Given the description of an element on the screen output the (x, y) to click on. 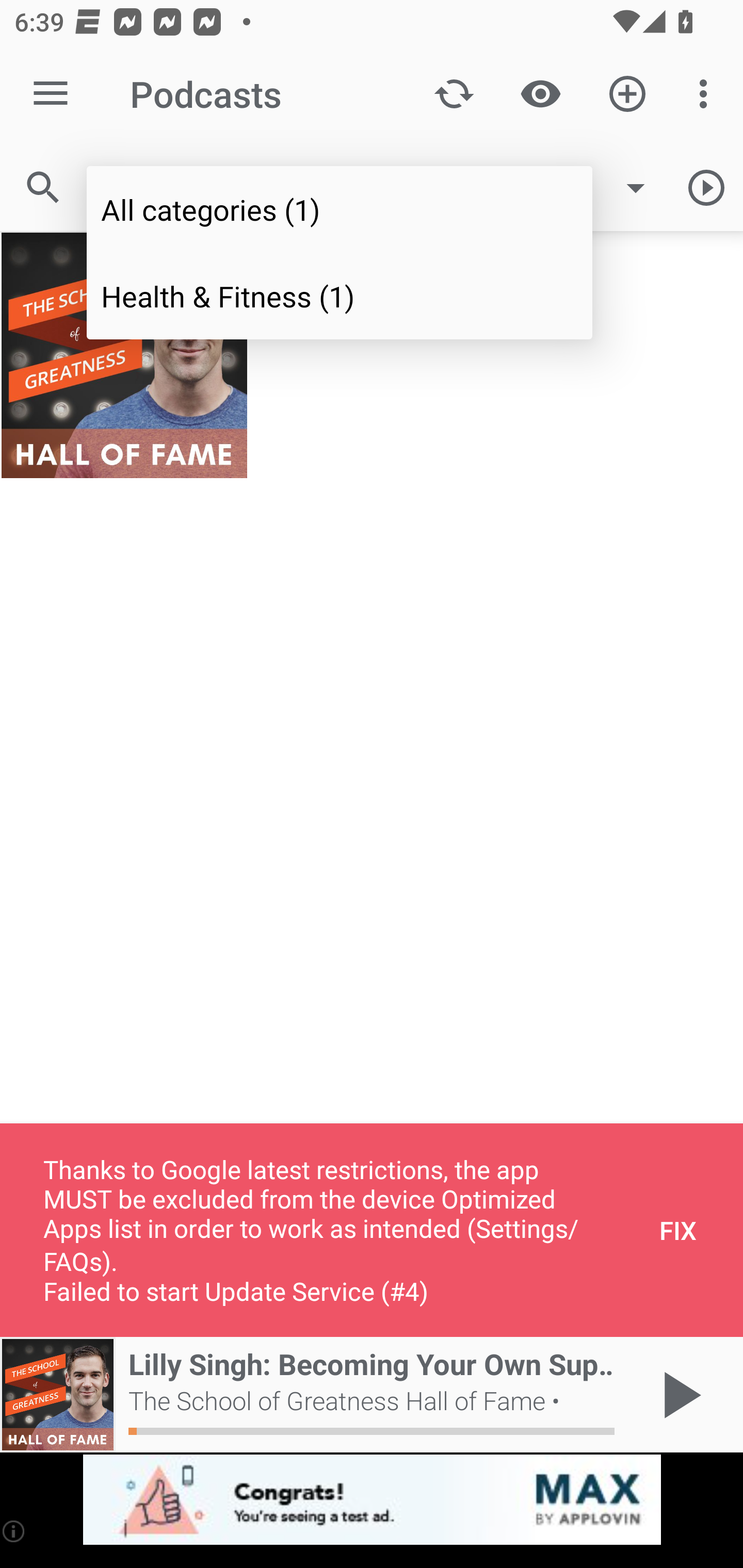
All categories (1) (339, 209)
Health & Fitness (1) (339, 295)
